Given the description of an element on the screen output the (x, y) to click on. 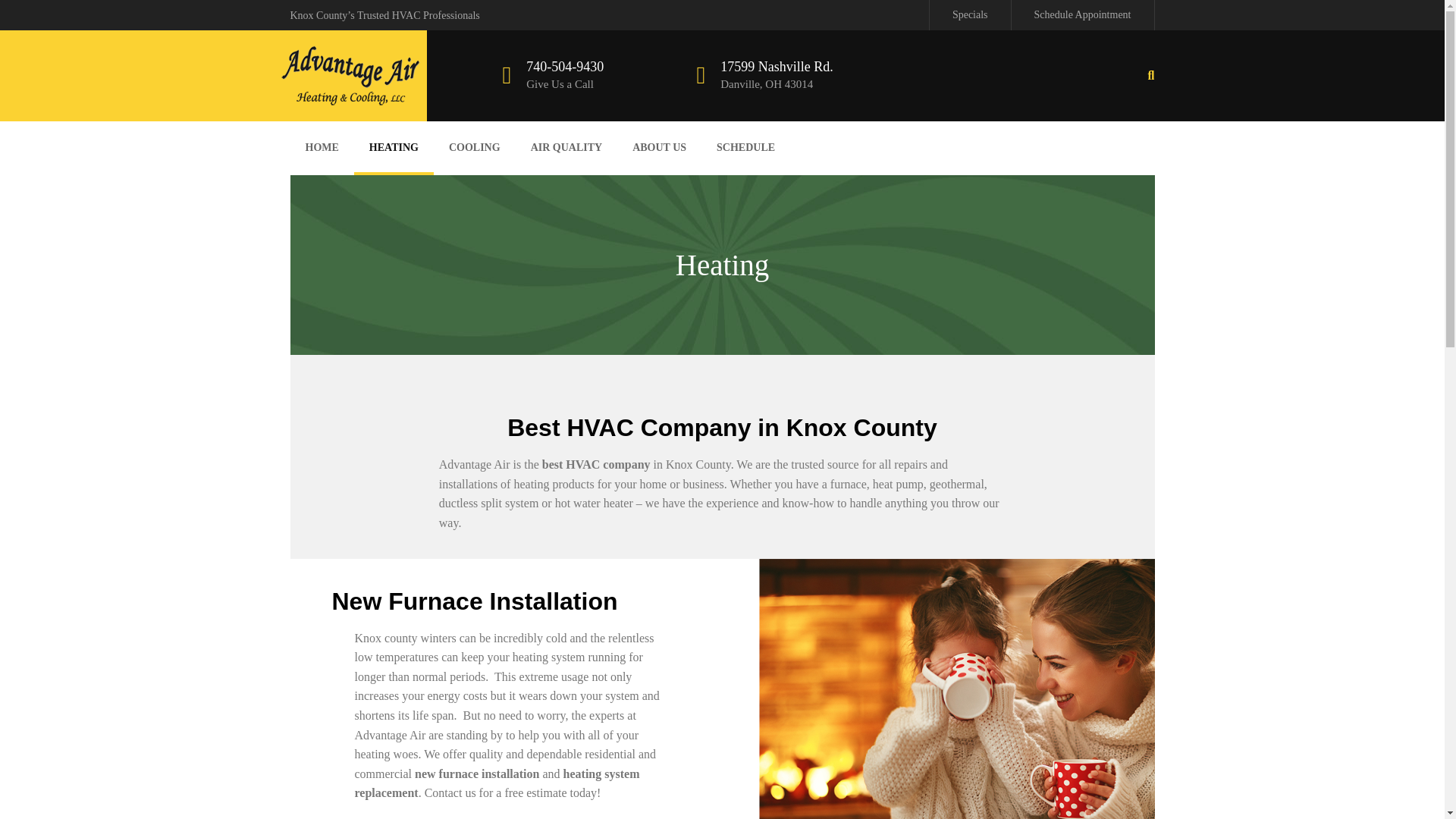
HEATING (393, 146)
HOME (321, 146)
Specials (970, 14)
Schedule Appointment (1082, 14)
Search (34, 14)
